Given the description of an element on the screen output the (x, y) to click on. 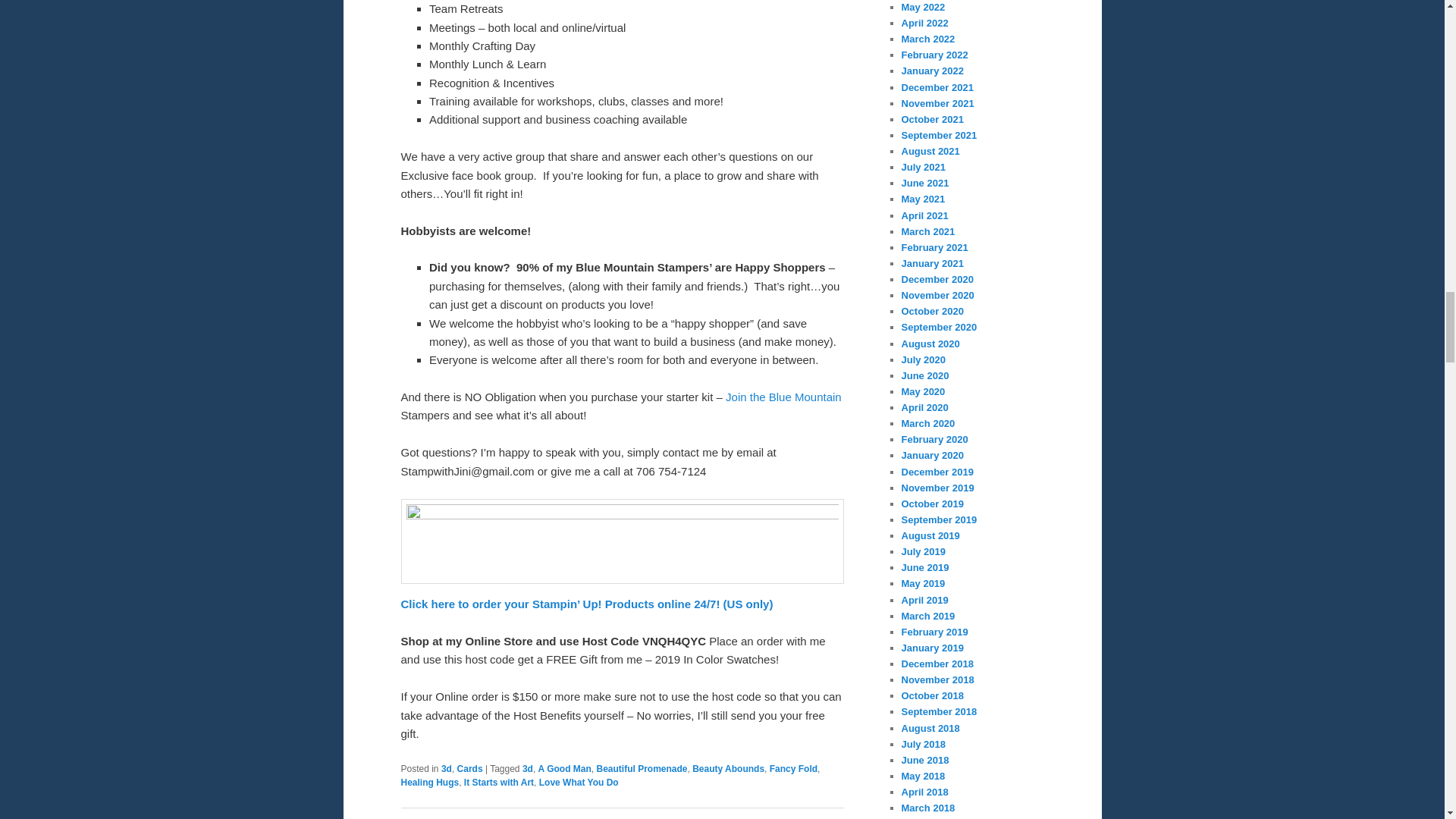
Join the Blue Mountain (783, 396)
